Given the description of an element on the screen output the (x, y) to click on. 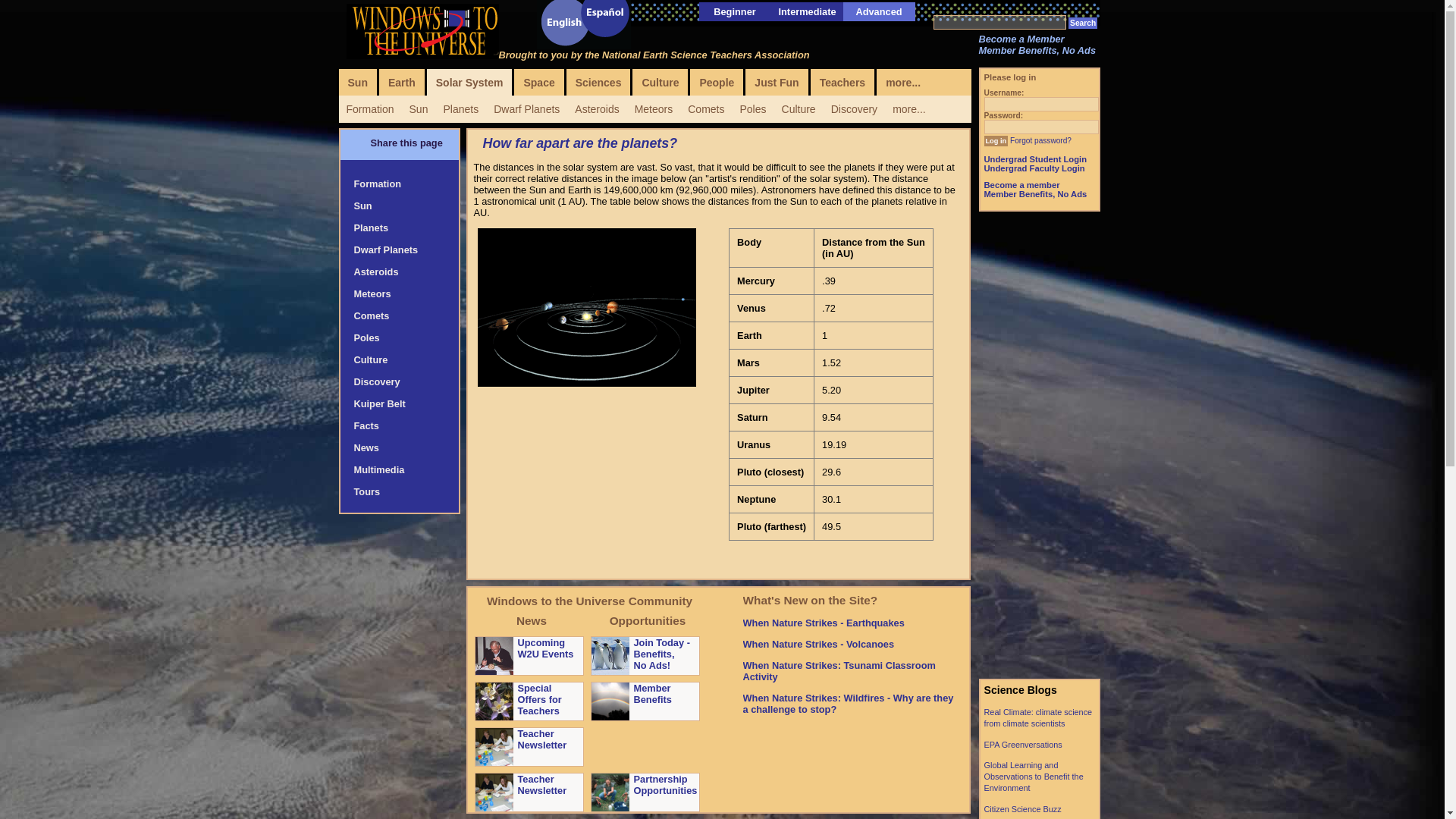
Intermediate (806, 11)
Become a Member (1021, 39)
Advanced (878, 11)
Sun (356, 82)
Search (1082, 22)
Beginner (734, 11)
Search (1082, 22)
Earth (401, 82)
Search (1082, 22)
